Given the description of an element on the screen output the (x, y) to click on. 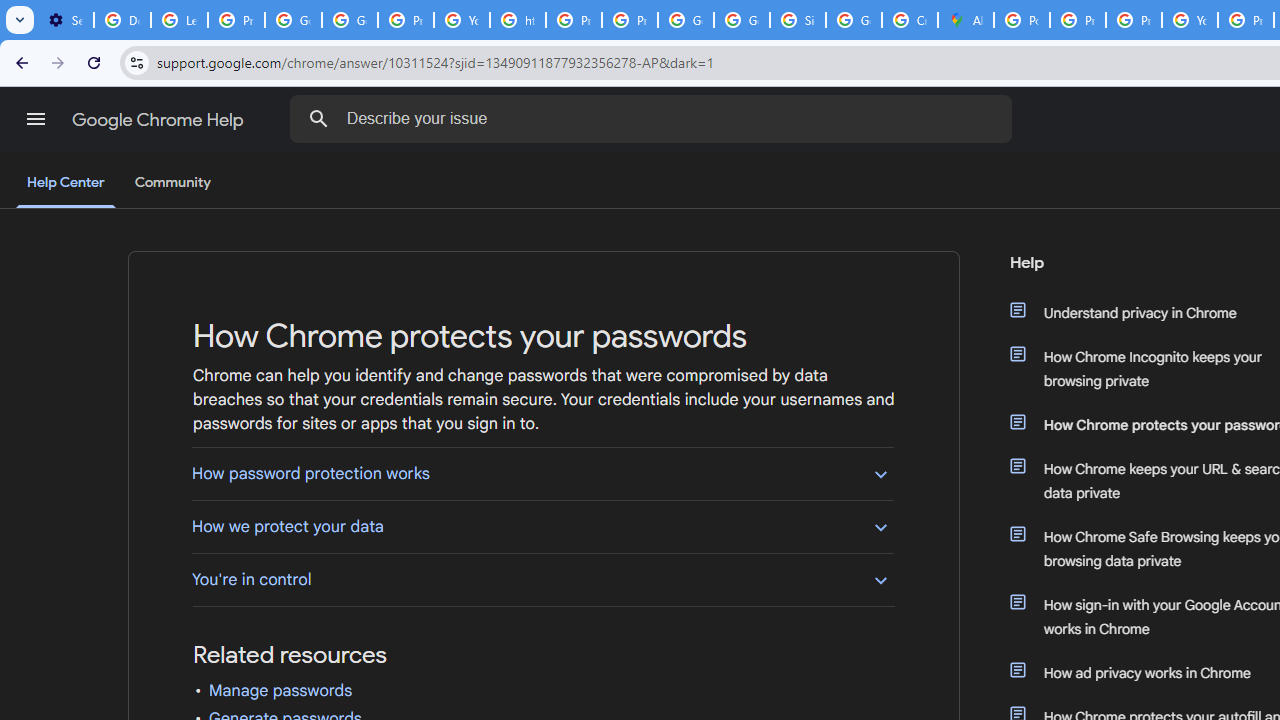
You're in control (542, 579)
https://scholar.google.com/ (518, 20)
Create your Google Account (909, 20)
Search Help Center (318, 118)
Google Account Help (293, 20)
Sign in - Google Accounts (797, 20)
